Given the description of an element on the screen output the (x, y) to click on. 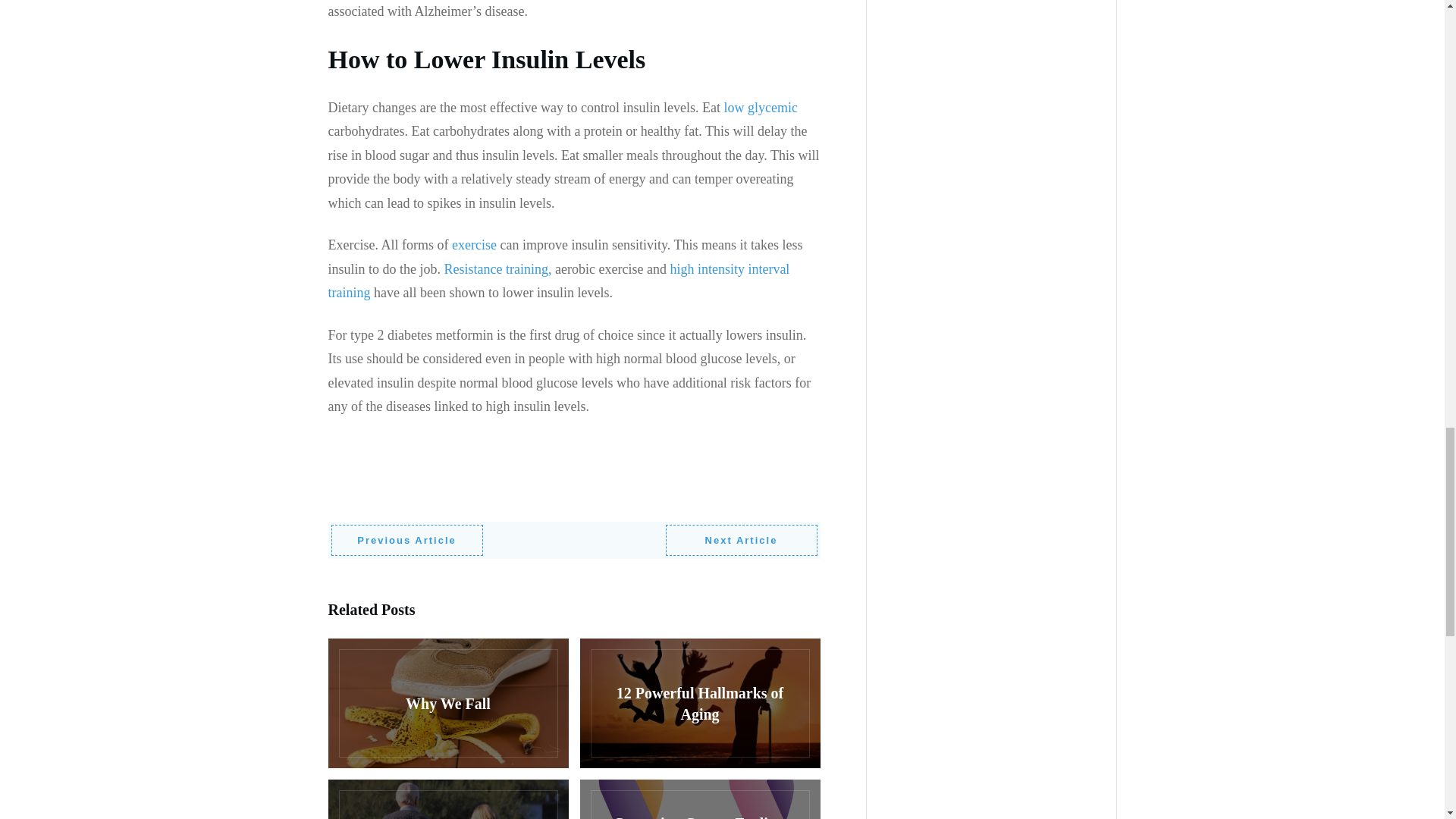
low glycemic foods (759, 107)
Can You Walk and Talk At The Same Time? (447, 799)
Next Article (740, 540)
Why We Fall (447, 703)
high intensity interval training (558, 281)
Previous Article (405, 540)
low glycemic (759, 107)
Resistance training, (497, 268)
12 Powerful Hallmarks of Aging (699, 703)
exercise (475, 244)
